Given the description of an element on the screen output the (x, y) to click on. 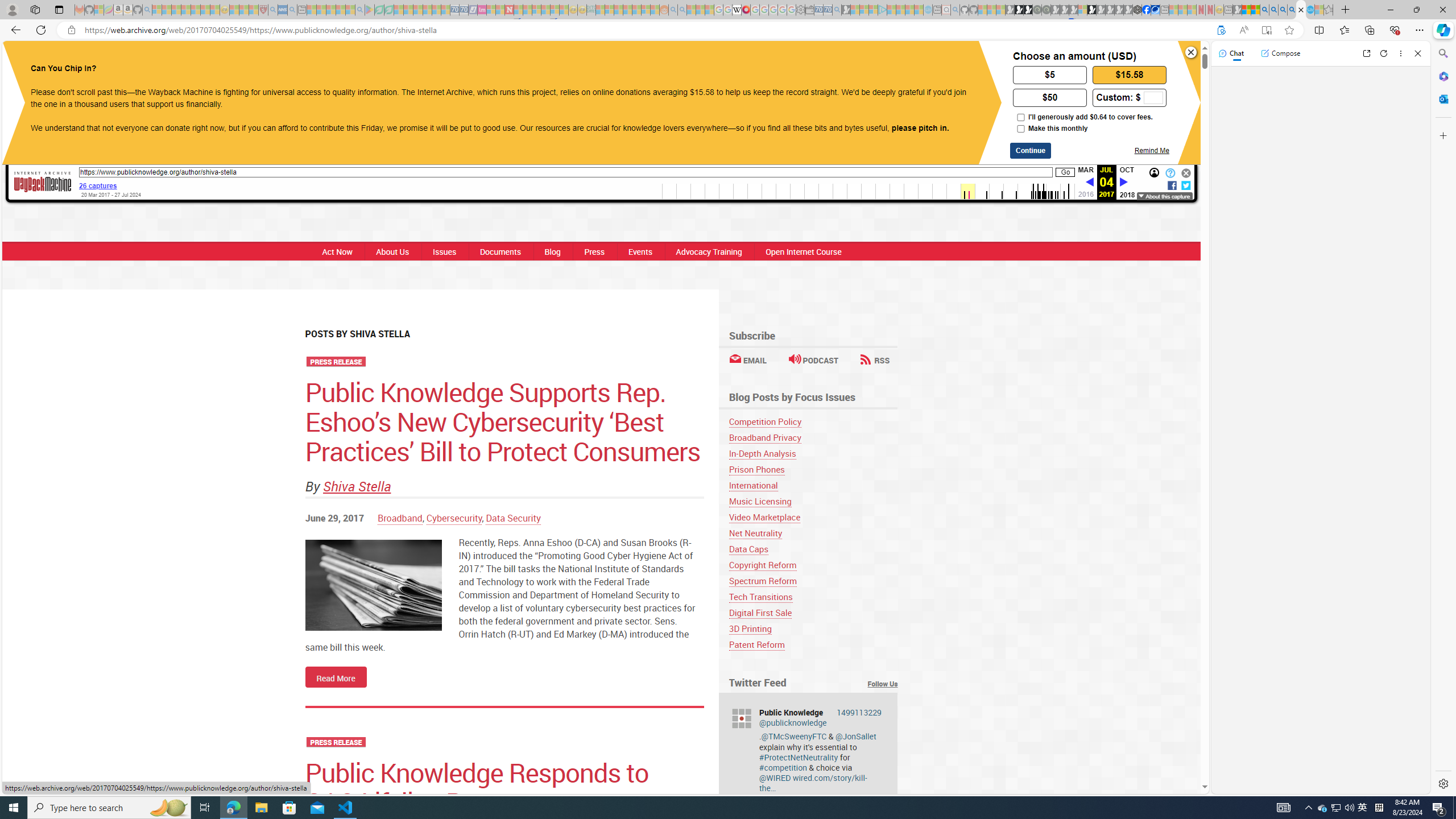
Nordace - Cooler Bags (1137, 9)
Documents (500, 251)
Spectrum Reform (762, 580)
EMAIL (747, 360)
#ProtectNetNeutrality (798, 756)
Documents (499, 251)
ACT NOW (783, 60)
26 captures (97, 185)
